Given the description of an element on the screen output the (x, y) to click on. 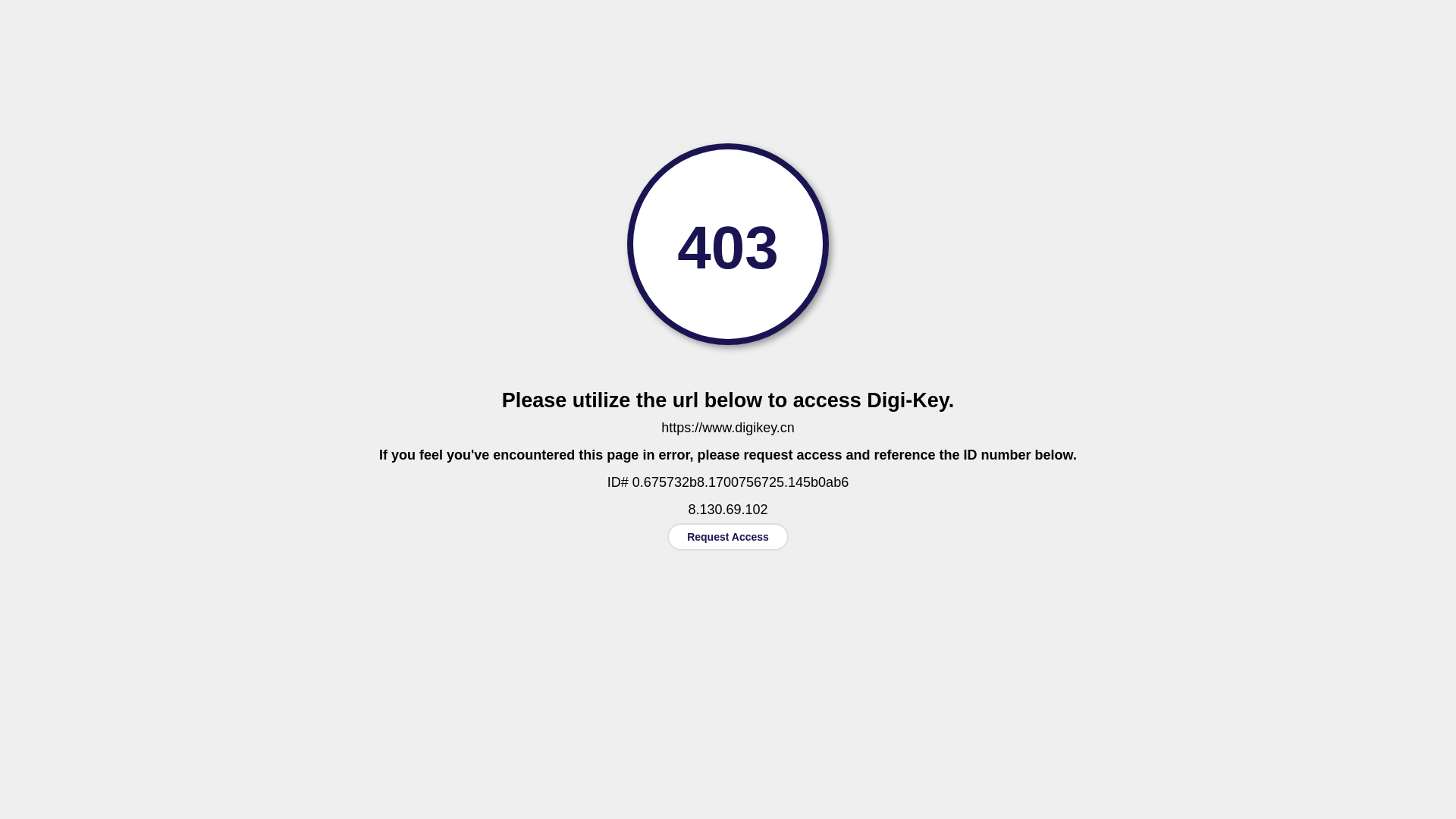
Request Access Element type: text (727, 536)
